Given the description of an element on the screen output the (x, y) to click on. 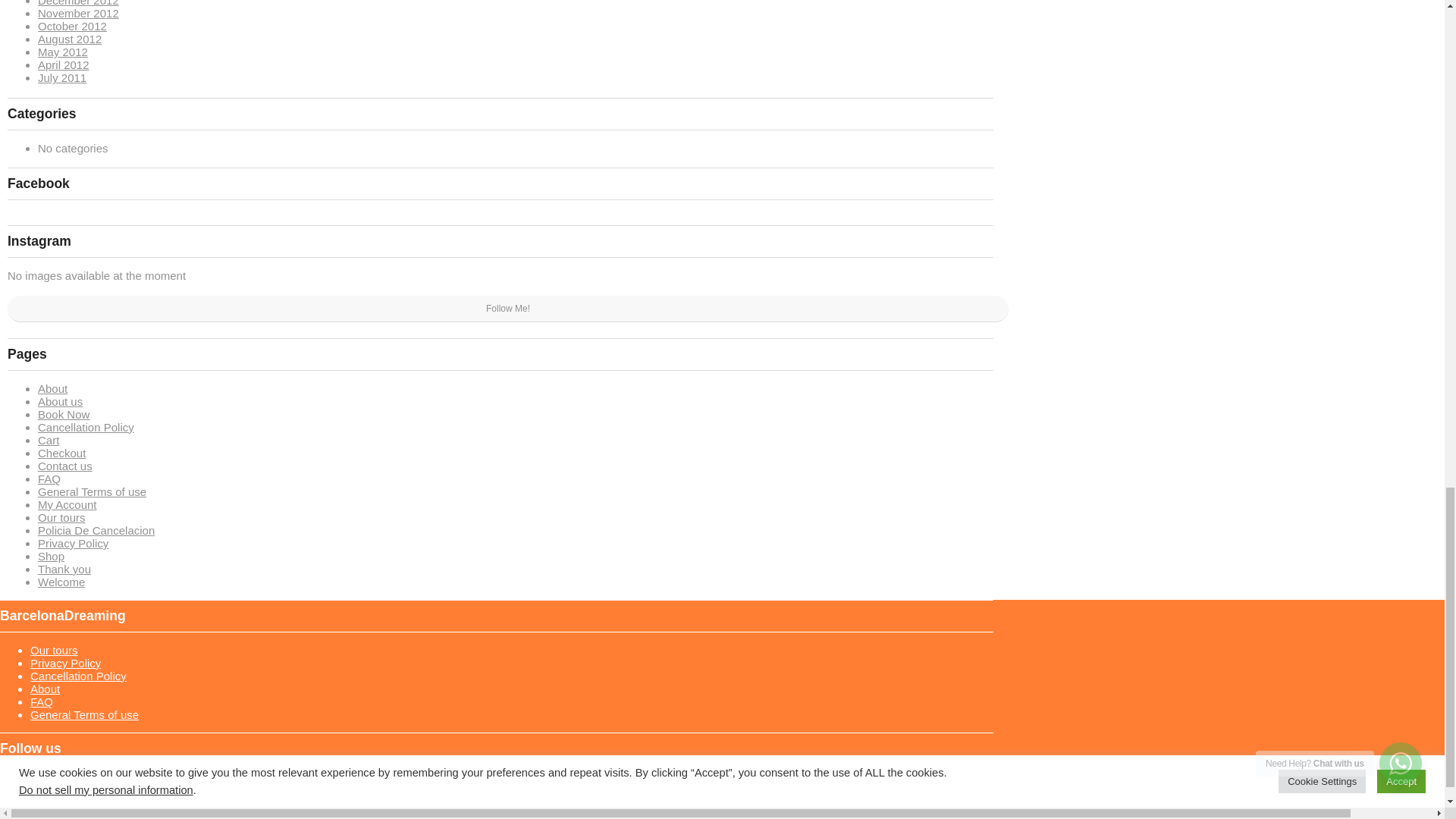
December 2012 (78, 3)
October 2012 (71, 25)
August 2012 (69, 38)
May 2012 (62, 51)
November 2012 (78, 12)
